Given the description of an element on the screen output the (x, y) to click on. 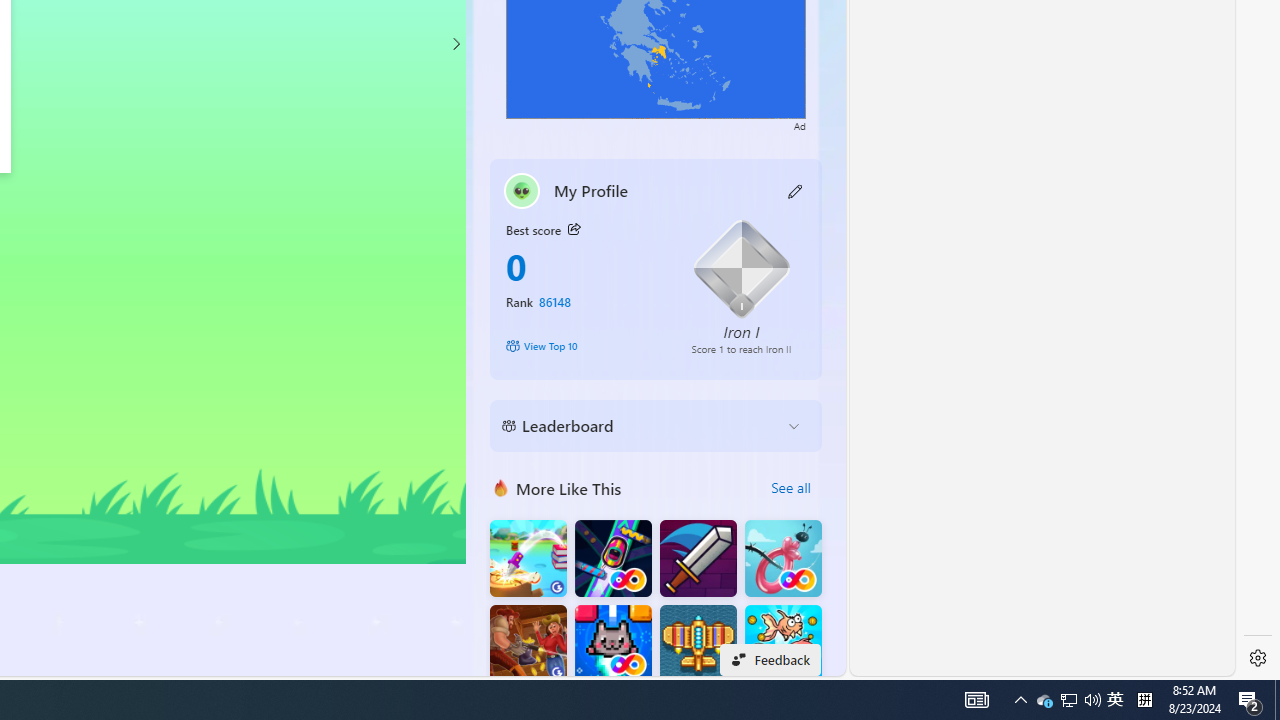
Fish Merge FRVR (783, 643)
See all (790, 487)
See all (790, 487)
Atlantic Sky Hunter (698, 643)
Knife Flip (528, 558)
""'s avatar (522, 190)
Saloon Robbery (528, 643)
Class: control (455, 43)
View Top 10 (584, 345)
More Like This (501, 487)
Dungeon Master Knight (698, 558)
Balloon FRVR (783, 558)
Bumper Car FRVR (612, 558)
